Given the description of an element on the screen output the (x, y) to click on. 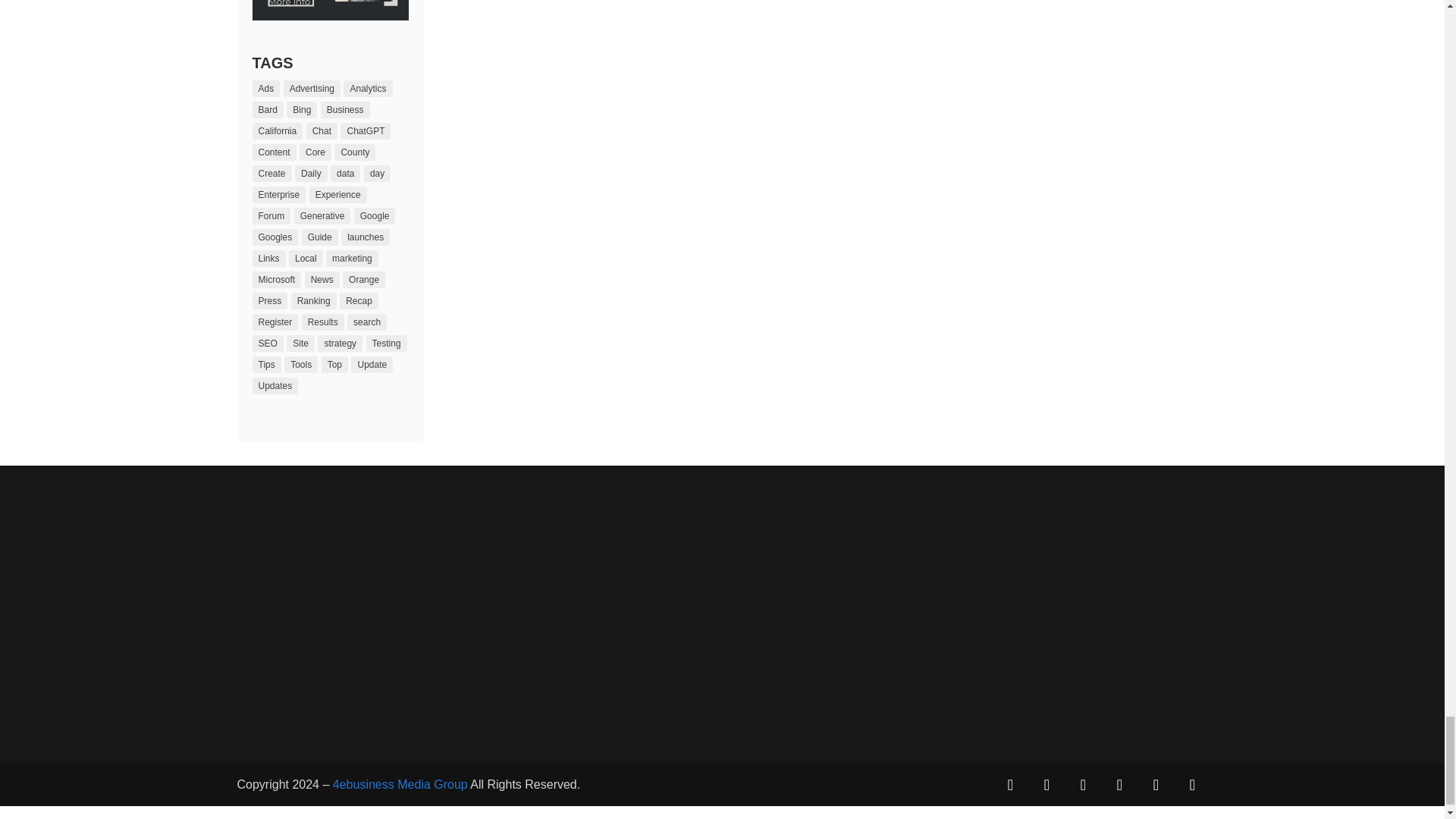
Follow on Youtube (1155, 784)
Follow on X (1045, 784)
Follow on LinkedIn (1118, 784)
Follow on RSS (1191, 784)
Follow on Facebook (1009, 784)
Follow on Pinterest (1082, 784)
